Given the description of an element on the screen output the (x, y) to click on. 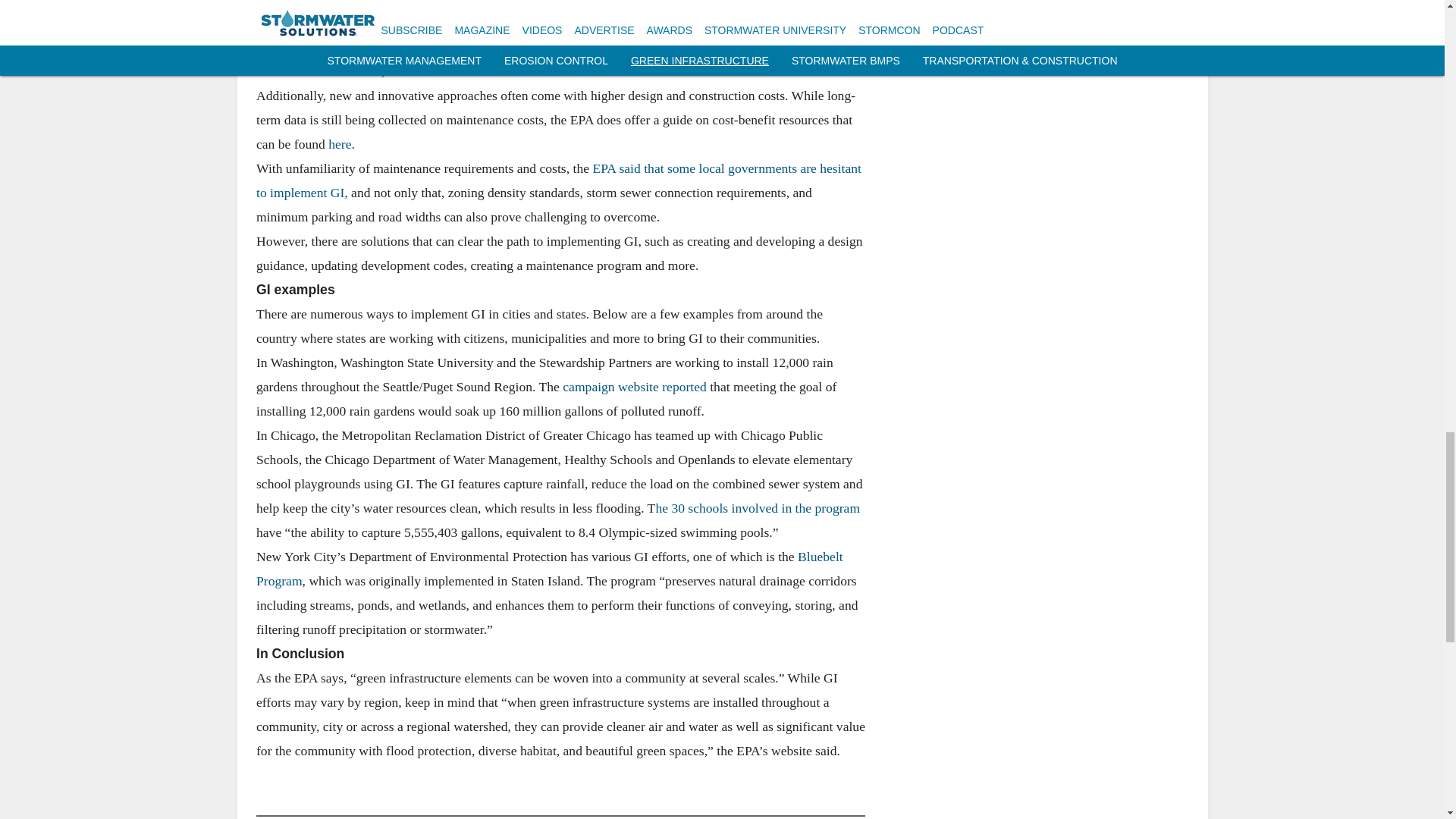
according to the EPA (370, 46)
he 30 schools involved in the program (757, 507)
here (339, 142)
Bluebelt Program (549, 567)
campaign website reported (634, 385)
